Given the description of an element on the screen output the (x, y) to click on. 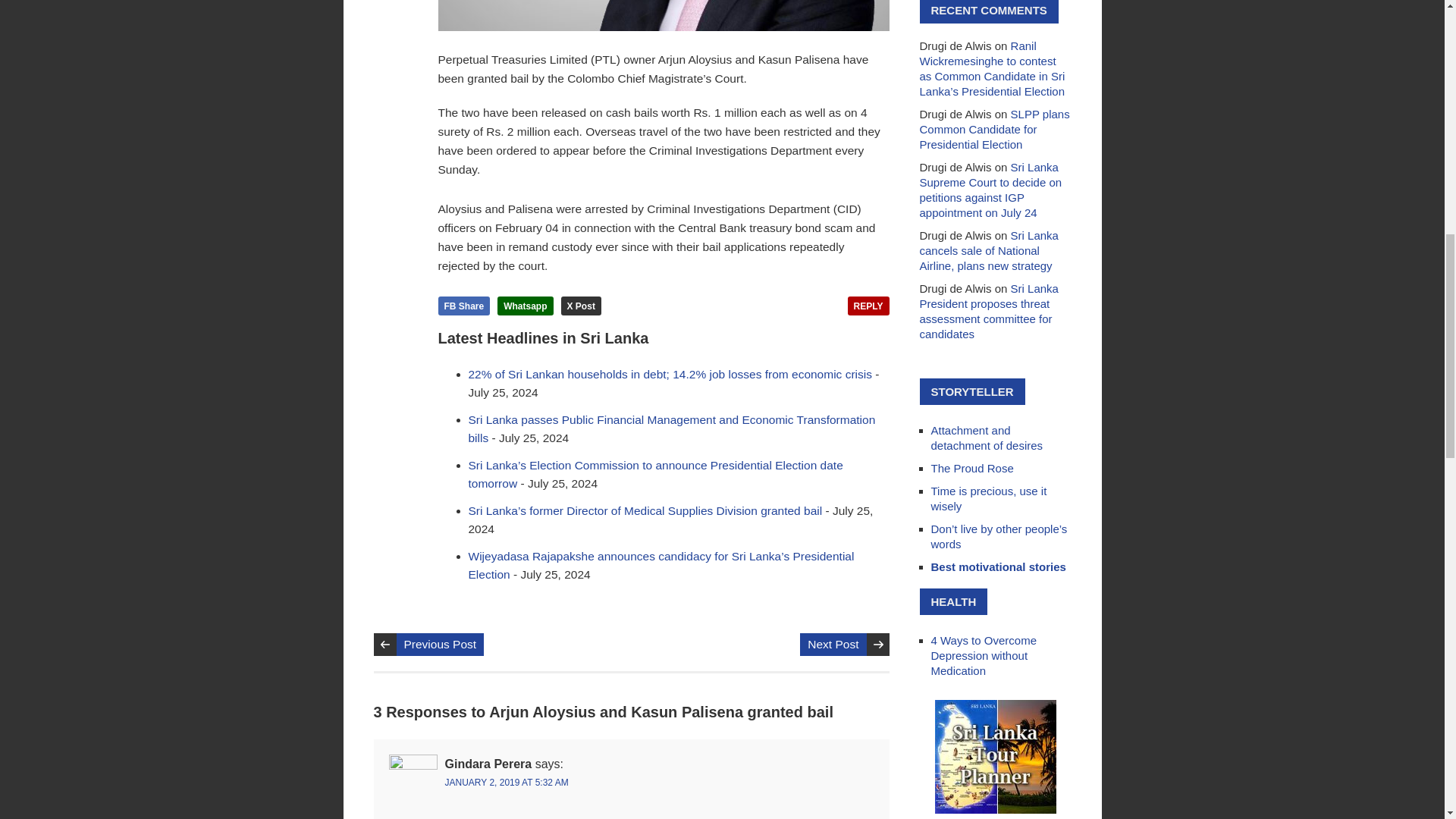
Previous Post (439, 644)
Share on Facebook (464, 305)
Share on Twitter (580, 305)
JANUARY 2, 2019 AT 5:32 AM (505, 782)
Share on Whatsapp (525, 305)
FB Share (464, 305)
Next Post (832, 644)
Write your Comments (868, 305)
X Post (580, 305)
Whatsapp (525, 305)
SLPP plans Common Candidate for Presidential Election (993, 128)
REPLY (868, 305)
